Given the description of an element on the screen output the (x, y) to click on. 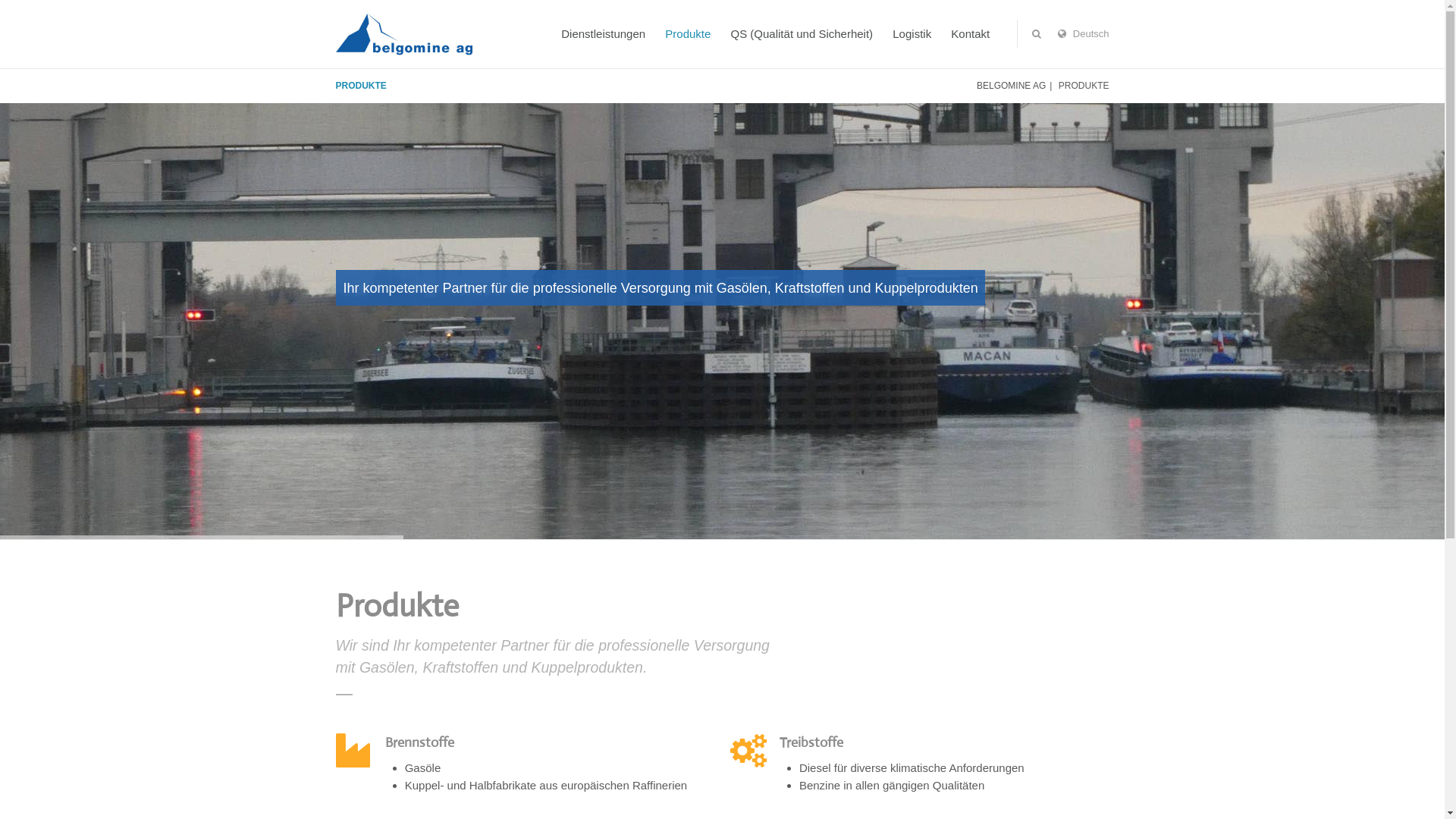
Produkte Element type: text (687, 34)
Dienstleistungen Element type: text (602, 34)
Kontakt Element type: text (969, 34)
Startseite Element type: hover (403, 34)
BELGOMINE AG Element type: text (1010, 85)
Logistik Element type: text (911, 34)
